Given the description of an element on the screen output the (x, y) to click on. 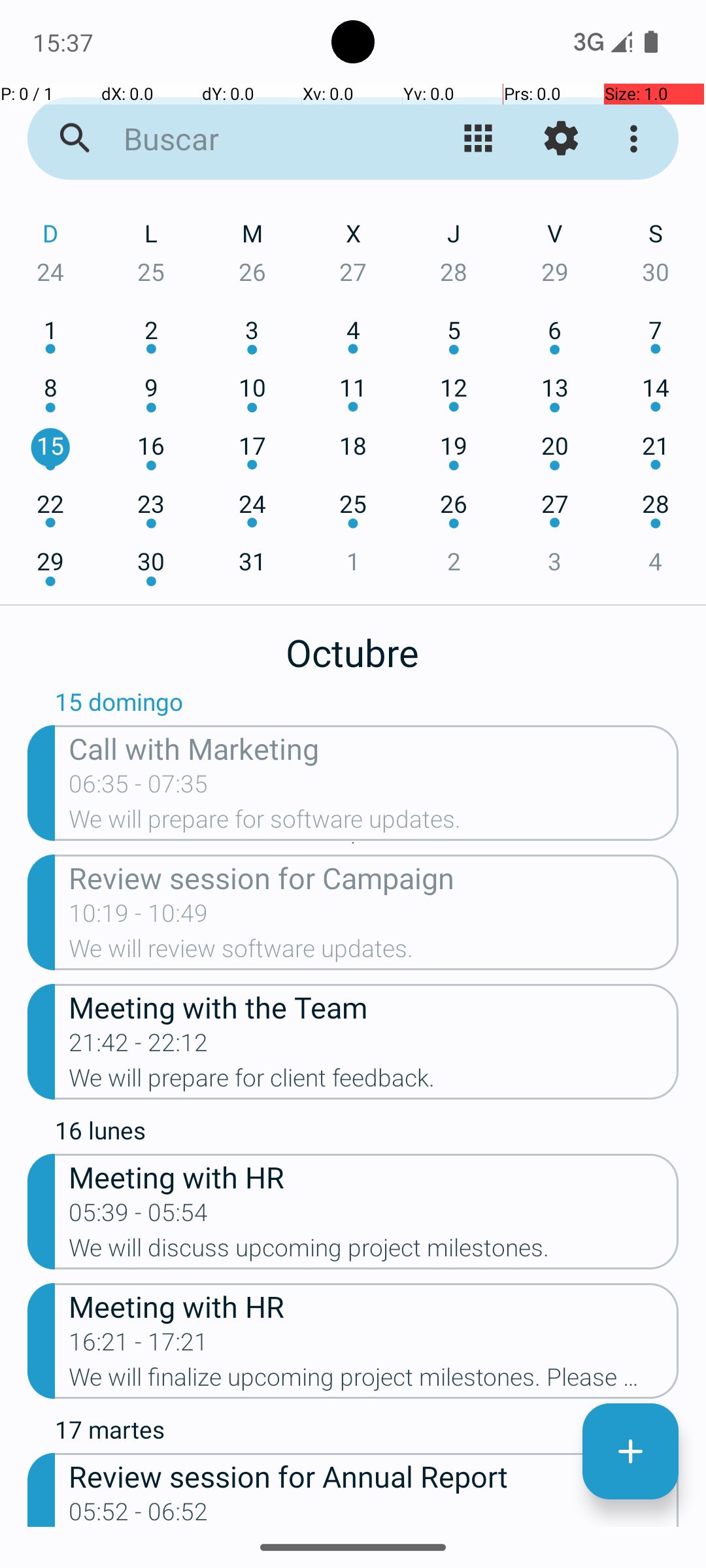
15 domingo Element type: android.widget.TextView (366, 704)
16 lunes Element type: android.widget.TextView (366, 1133)
17 martes Element type: android.widget.TextView (366, 1432)
Call with Marketing Element type: android.widget.TextView (373, 747)
06:35 - 07:35 Element type: android.widget.TextView (137, 787)
We will prepare for software updates. Element type: android.widget.TextView (373, 822)
Review session for Campaign Element type: android.widget.TextView (373, 876)
10:19 - 10:49 Element type: android.widget.TextView (137, 916)
We will review software updates. Element type: android.widget.TextView (373, 952)
Meeting with the Team Element type: android.widget.TextView (373, 1006)
21:42 - 22:12 Element type: android.widget.TextView (137, 1046)
We will prepare for client feedback. Element type: android.widget.TextView (373, 1081)
Meeting with HR Element type: android.widget.TextView (373, 1175)
05:39 - 05:54 Element type: android.widget.TextView (137, 1216)
We will discuss upcoming project milestones. Element type: android.widget.TextView (373, 1251)
16:21 - 17:21 Element type: android.widget.TextView (137, 1345)
We will finalize upcoming project milestones. Please bring relevant documents. Element type: android.widget.TextView (373, 1380)
Review session for Annual Report Element type: android.widget.TextView (373, 1475)
05:52 - 06:52 Element type: android.widget.TextView (137, 1512)
15:37 Element type: android.widget.TextView (64, 41)
